Given the description of an element on the screen output the (x, y) to click on. 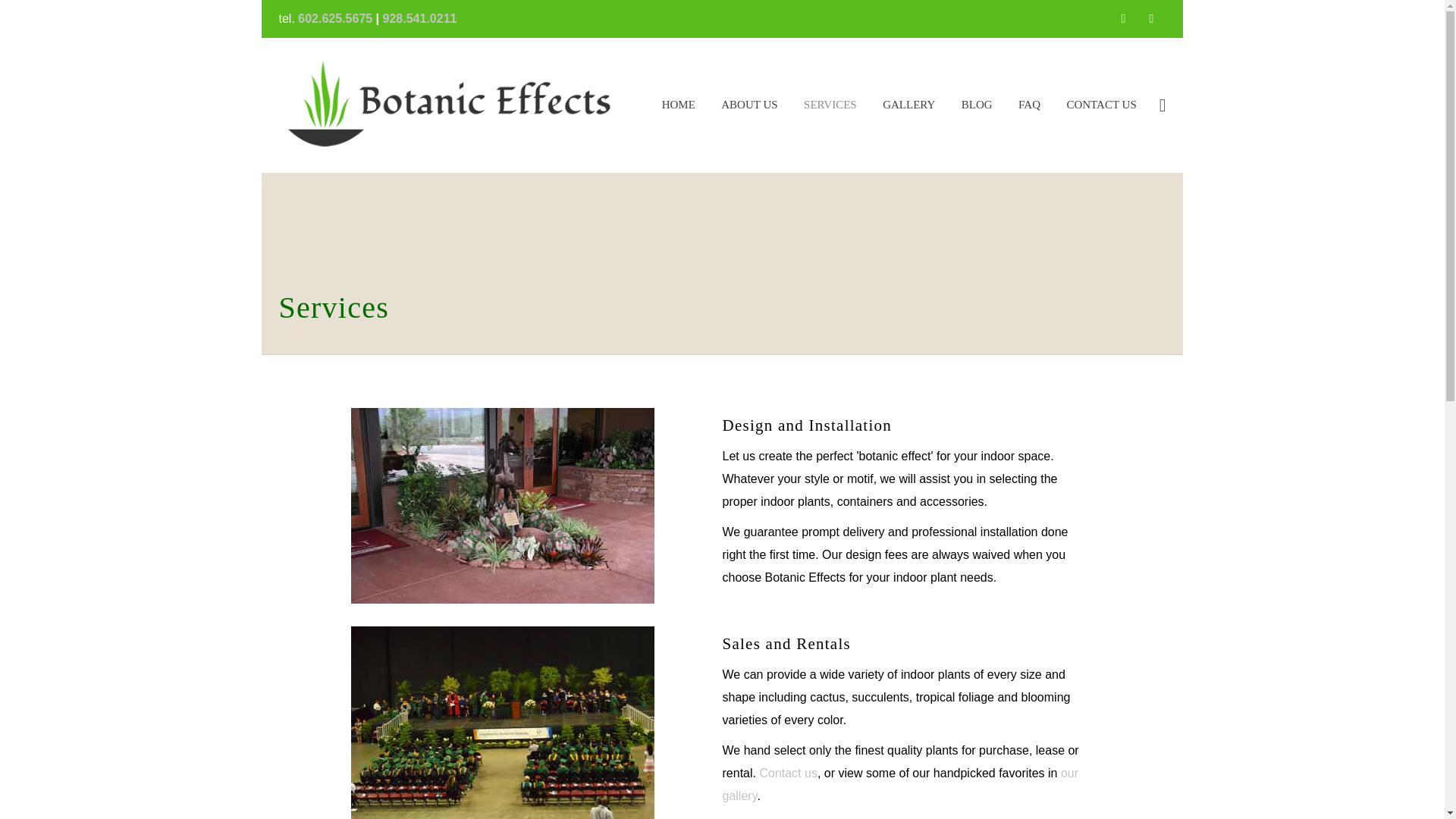
CONTACT US (1100, 110)
GALLERY (908, 110)
HOME (678, 110)
400xgraduation (501, 722)
BLOG (977, 110)
602.625.5675 (335, 18)
FAQ (1029, 110)
our gallery (900, 784)
ABOUT US (749, 110)
Contact us (787, 772)
928.541.0211 (419, 18)
SERVICES (829, 110)
